Given the description of an element on the screen output the (x, y) to click on. 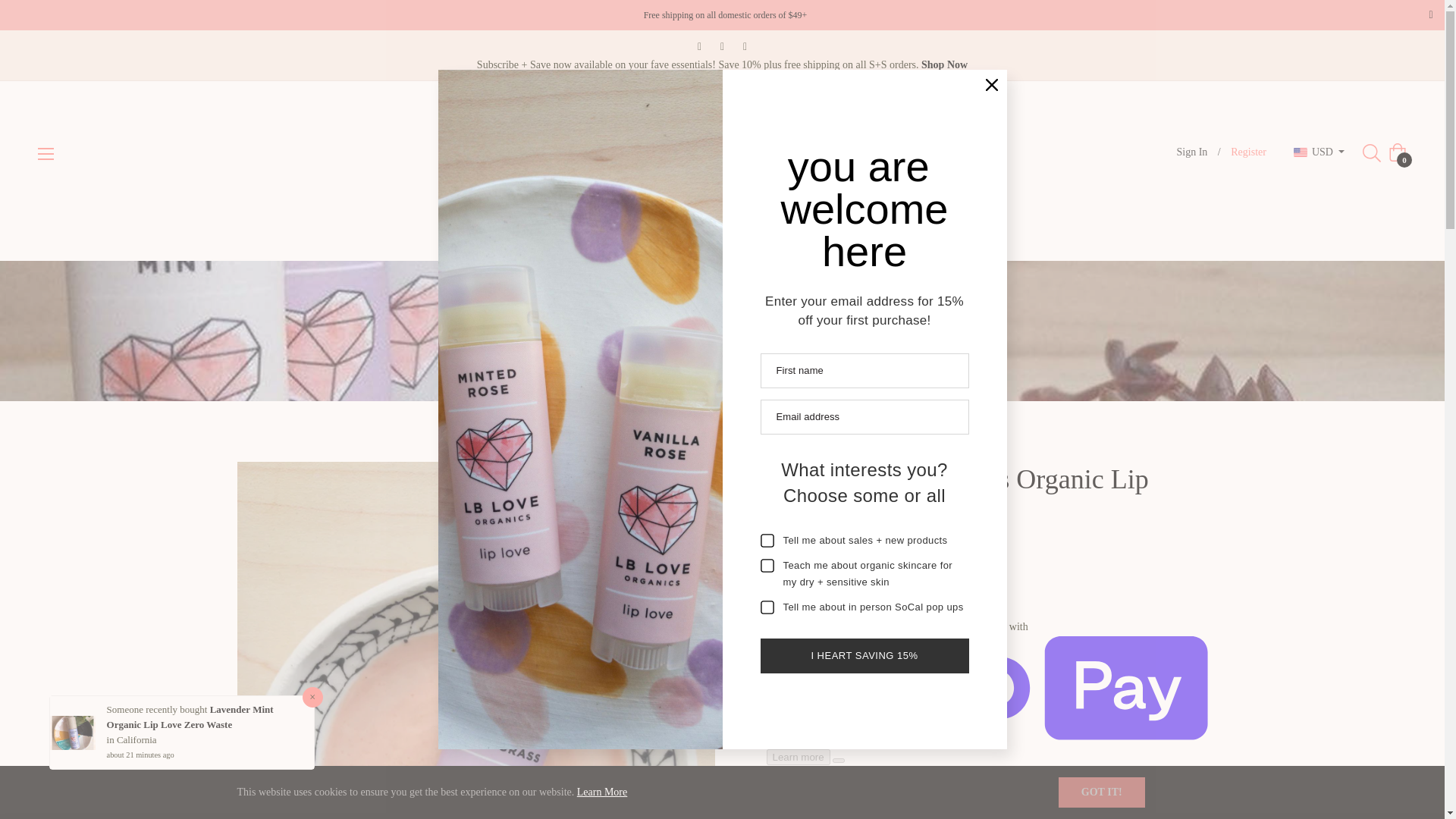
Shop Now (944, 64)
SHOP (486, 235)
LB Love Organics on Pinterest (722, 45)
Currencies (1318, 151)
Sign In (1192, 152)
1 (803, 808)
Shopping Cart (1397, 152)
Register (1248, 152)
Home (626, 331)
LB Love Organics on Facebook (699, 45)
LB Love Organics on Instagram (745, 45)
